Given the description of an element on the screen output the (x, y) to click on. 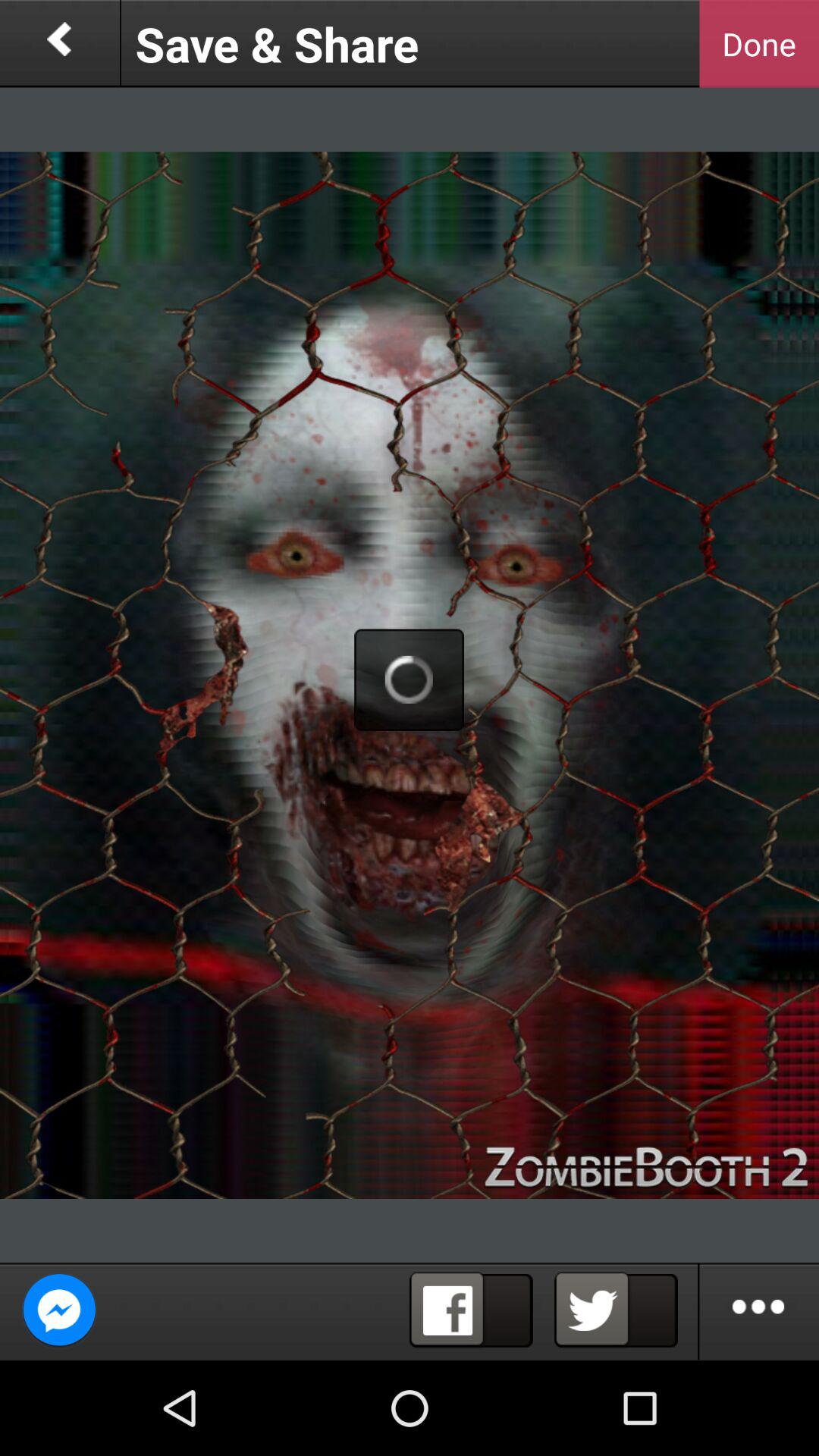
facebook toggle option (470, 1310)
